Given the description of an element on the screen output the (x, y) to click on. 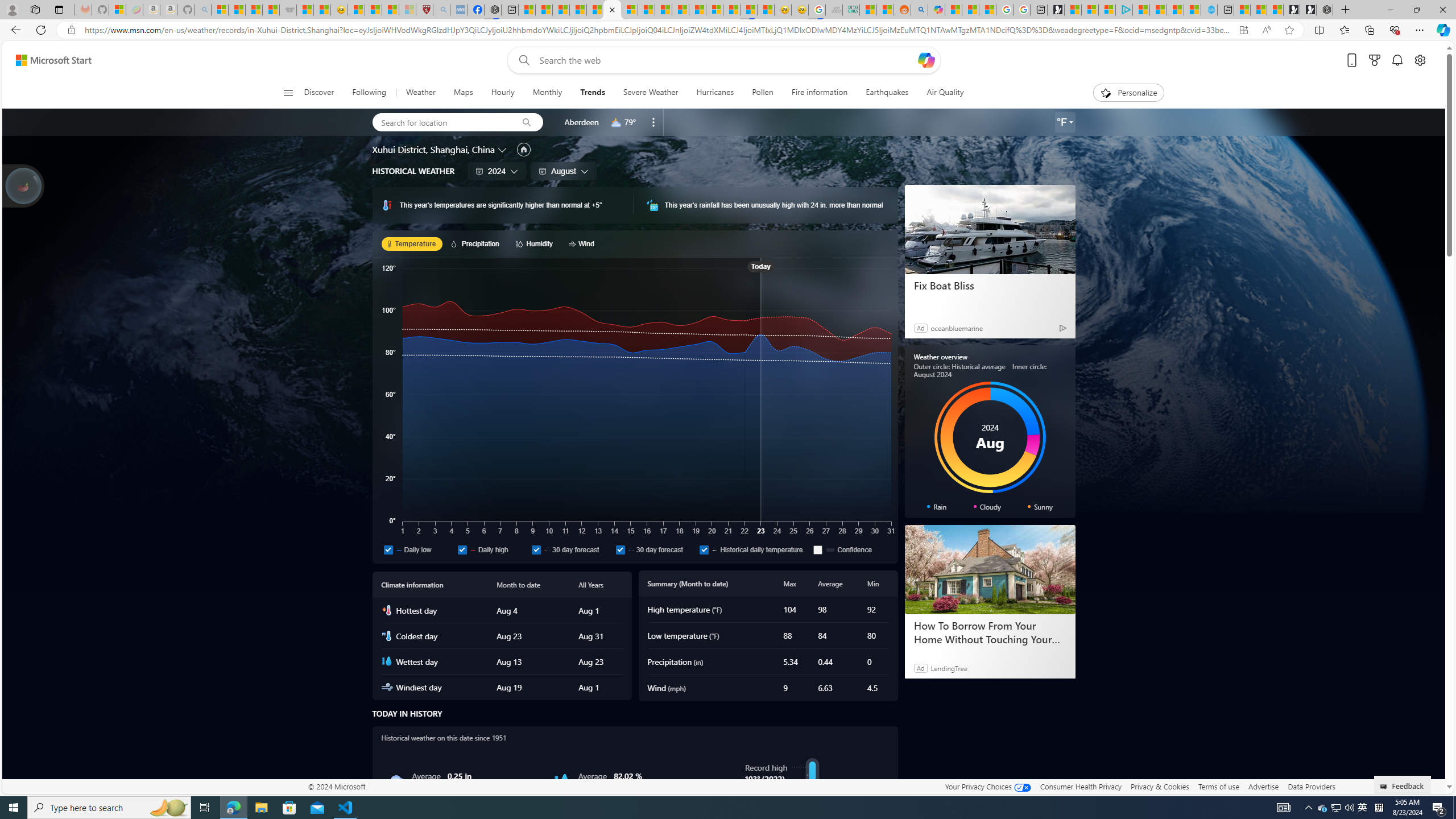
Data Providers (1311, 786)
Your Privacy Choices (987, 786)
2024 (496, 170)
Recipes - MSN (356, 9)
Weather settings (1064, 122)
Severe Weather (649, 92)
Daily high (462, 549)
